Given the description of an element on the screen output the (x, y) to click on. 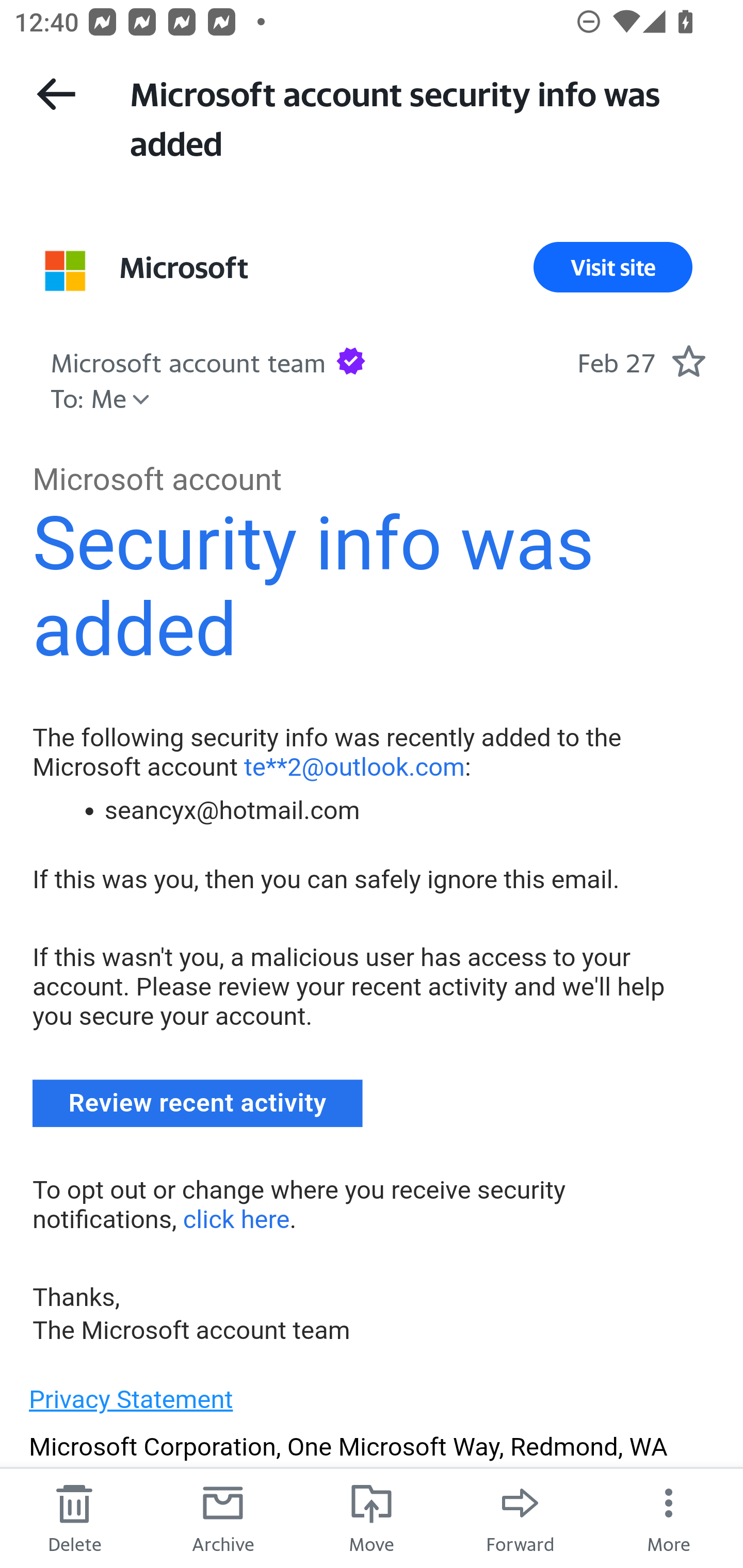
Back (55, 93)
Microsoft account security info was added (418, 116)
View all messages from sender (64, 270)
Visit site Visit Site Link (612, 267)
Microsoft Sender Microsoft (183, 266)
Mark as starred. (688, 361)
te**2@outlook.com (354, 766)
Review recent activity (197, 1102)
click here (235, 1218)
Privacy Statement (131, 1398)
Delete (74, 1517)
Archive (222, 1517)
Move (371, 1517)
Forward (519, 1517)
More (668, 1517)
